Given the description of an element on the screen output the (x, y) to click on. 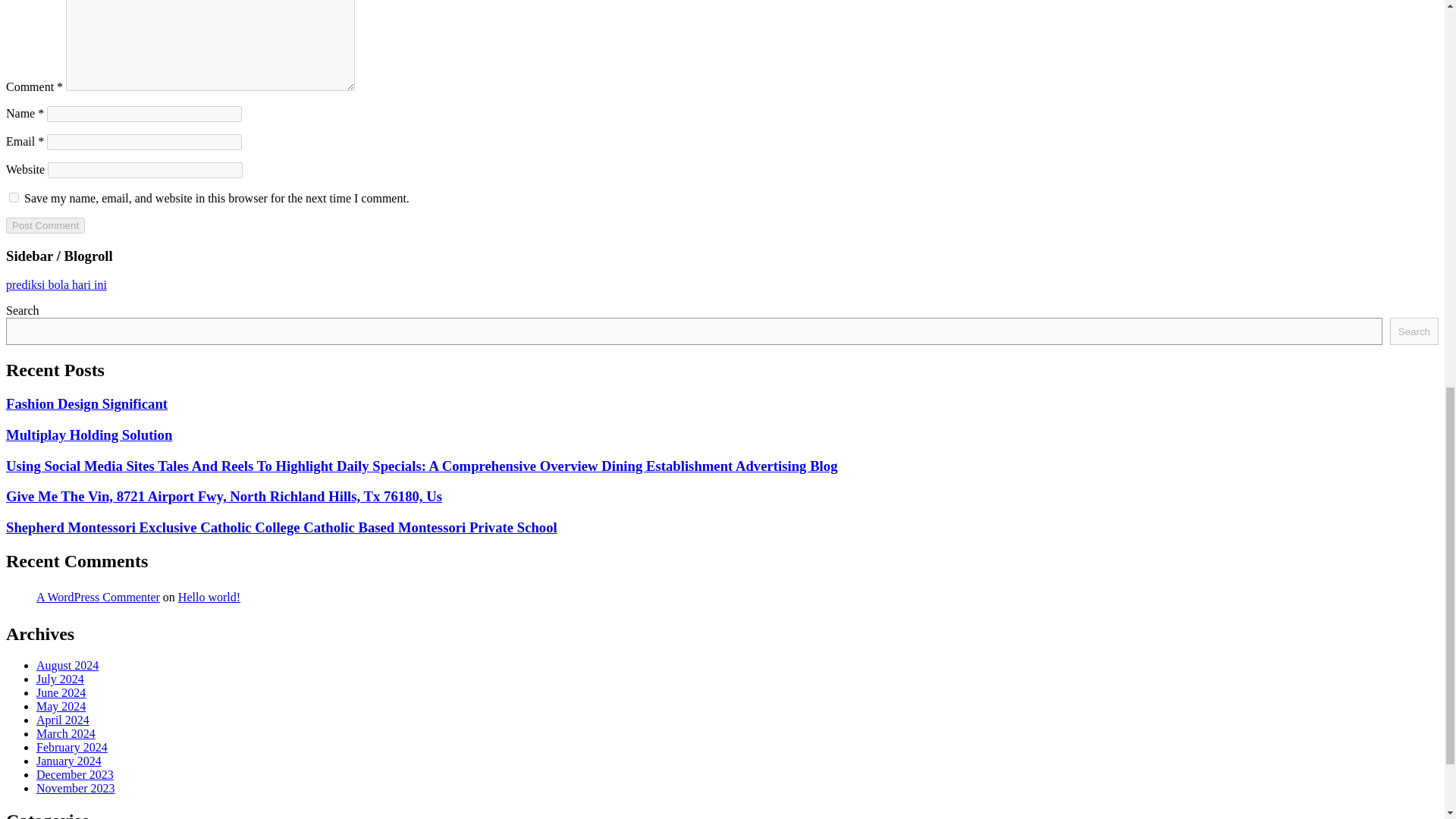
A WordPress Commenter (98, 596)
Post Comment (44, 225)
prediksi bola hari ini (55, 284)
prediksi bola hari ini (55, 284)
yes (13, 197)
July 2024 (60, 678)
Hello world! (208, 596)
May 2024 (60, 706)
December 2023 (74, 774)
June 2024 (60, 692)
